Given the description of an element on the screen output the (x, y) to click on. 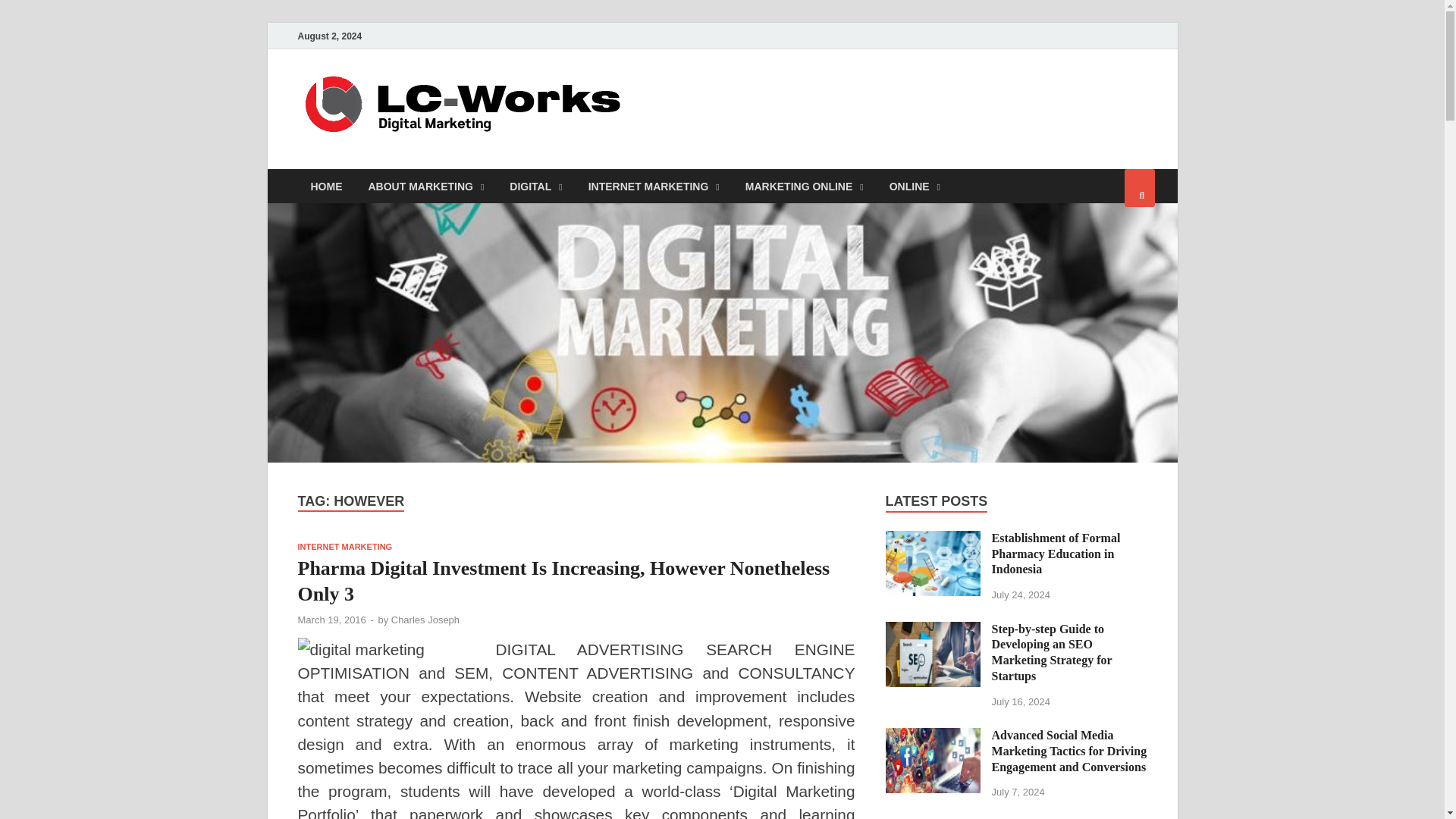
MARKETING ONLINE (804, 185)
ONLINE (914, 185)
Charles Joseph (425, 619)
INTERNET MARKETING (344, 546)
Establishment of Formal Pharmacy Education in Indonesia (932, 539)
HOME (326, 185)
March 19, 2016 (331, 619)
ABOUT MARKETING (425, 185)
